Given the description of an element on the screen output the (x, y) to click on. 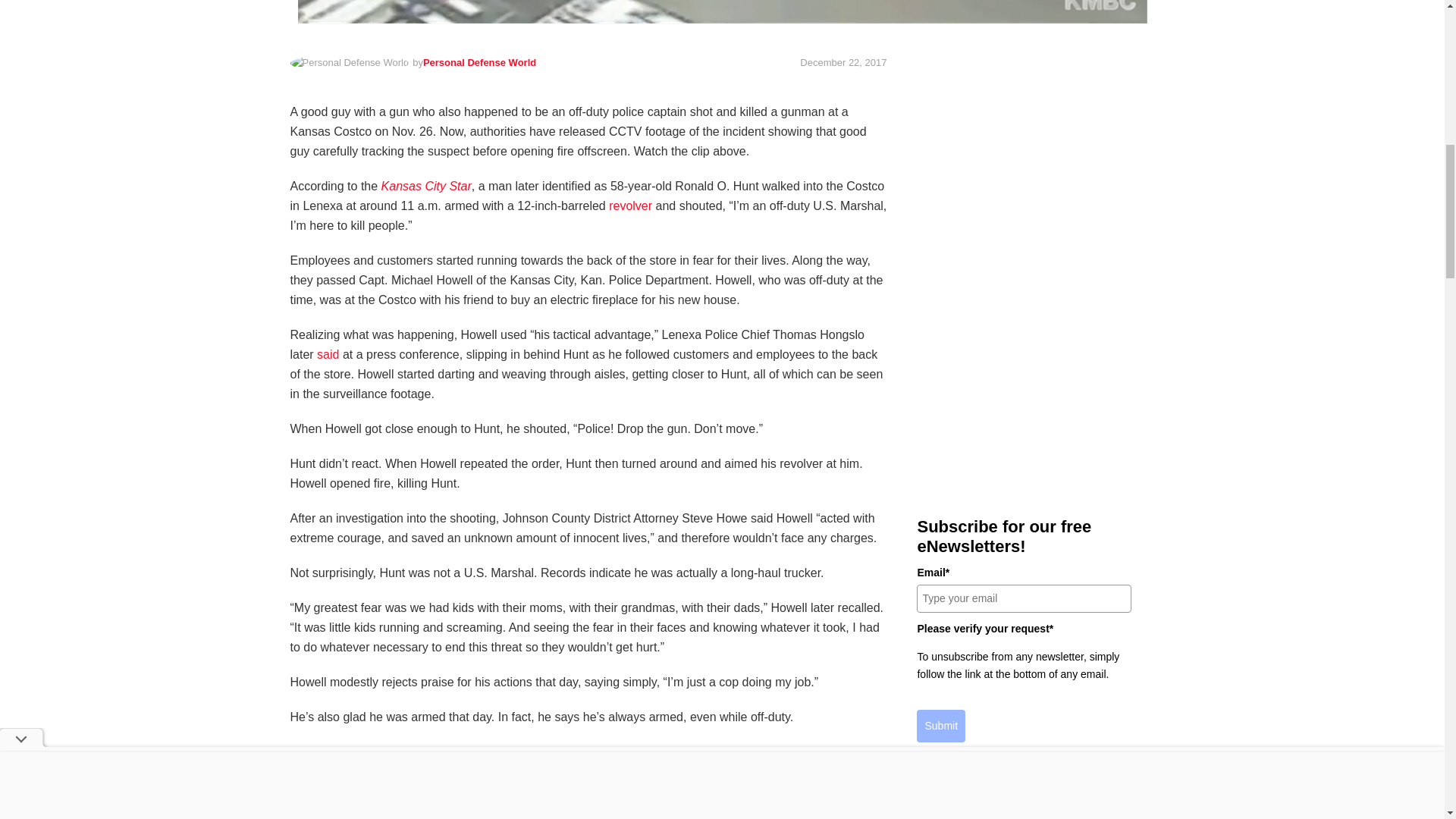
3rd party ad content (1024, 156)
3rd party ad content (1024, 376)
